Given the description of an element on the screen output the (x, y) to click on. 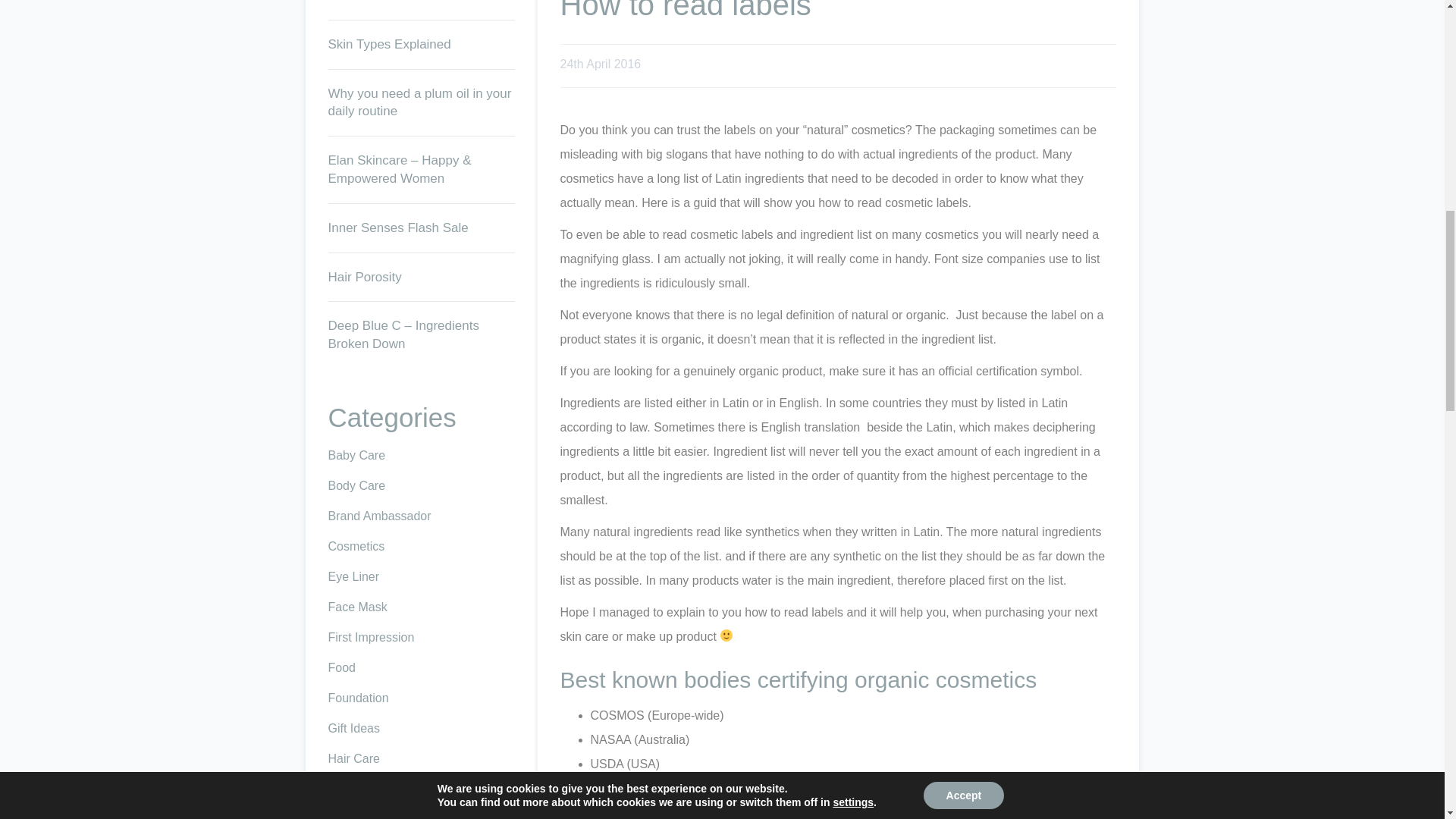
Brand Ambassador (378, 515)
Foundation (357, 697)
Hair Care (352, 758)
Ingredients (357, 816)
Hair Porosity (364, 277)
Body Care (356, 485)
Gift Ideas (352, 727)
Hair Porosity (364, 277)
Inner Senses Flash Sale (397, 227)
Skin Types Explained (388, 43)
Face Mask (357, 606)
Baby Care (356, 454)
Why you need a plum oil in your daily routine (419, 102)
Cosmetics (355, 545)
Eye Liner (352, 576)
